Given the description of an element on the screen output the (x, y) to click on. 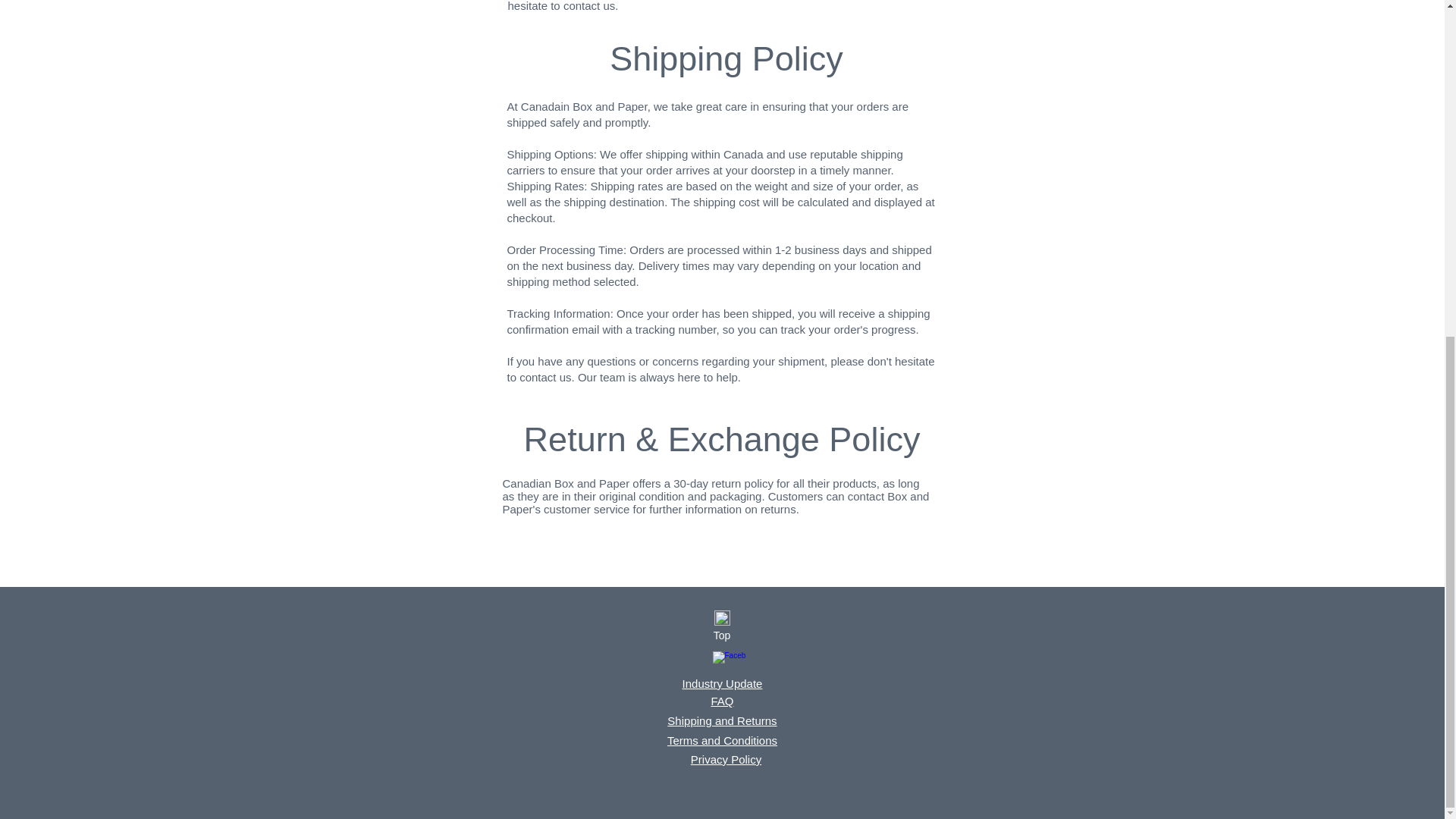
Privacy Policy (725, 758)
Top (721, 635)
Industry Update (722, 683)
FAQ (721, 700)
Shipping and Returns (721, 720)
Terms and Conditions (721, 739)
Back to top (722, 617)
